Given the description of an element on the screen output the (x, y) to click on. 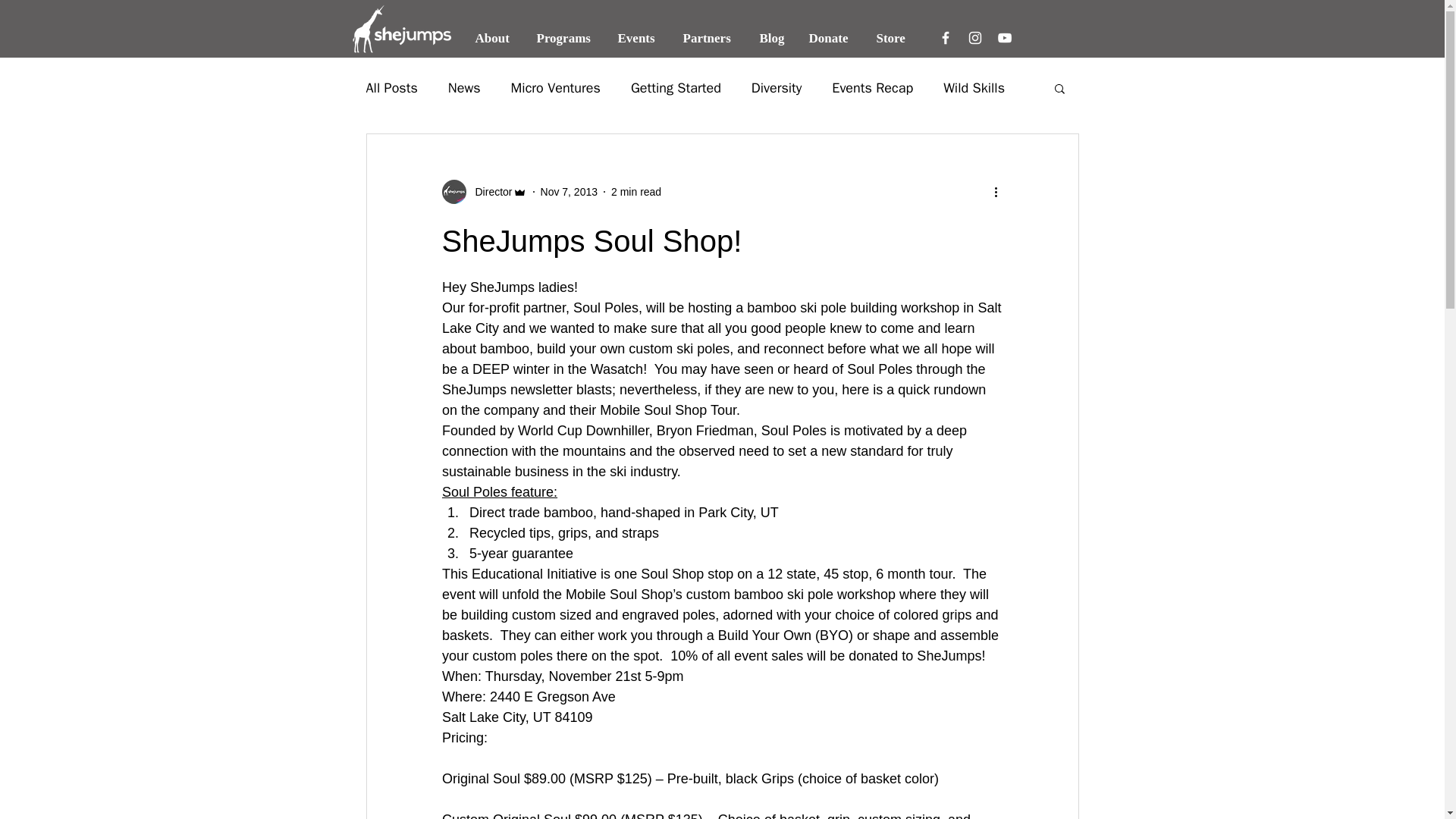
Donate (830, 37)
Events Recap (871, 87)
Wild Skills (973, 87)
Partners (709, 37)
Events (639, 37)
Micro Ventures (555, 87)
Getting Started (675, 87)
Director (488, 191)
Diversity (776, 87)
2 min read (636, 191)
Blog (772, 37)
Programs (564, 37)
Store (892, 37)
Nov 7, 2013 (569, 191)
All Posts (390, 87)
